Given the description of an element on the screen output the (x, y) to click on. 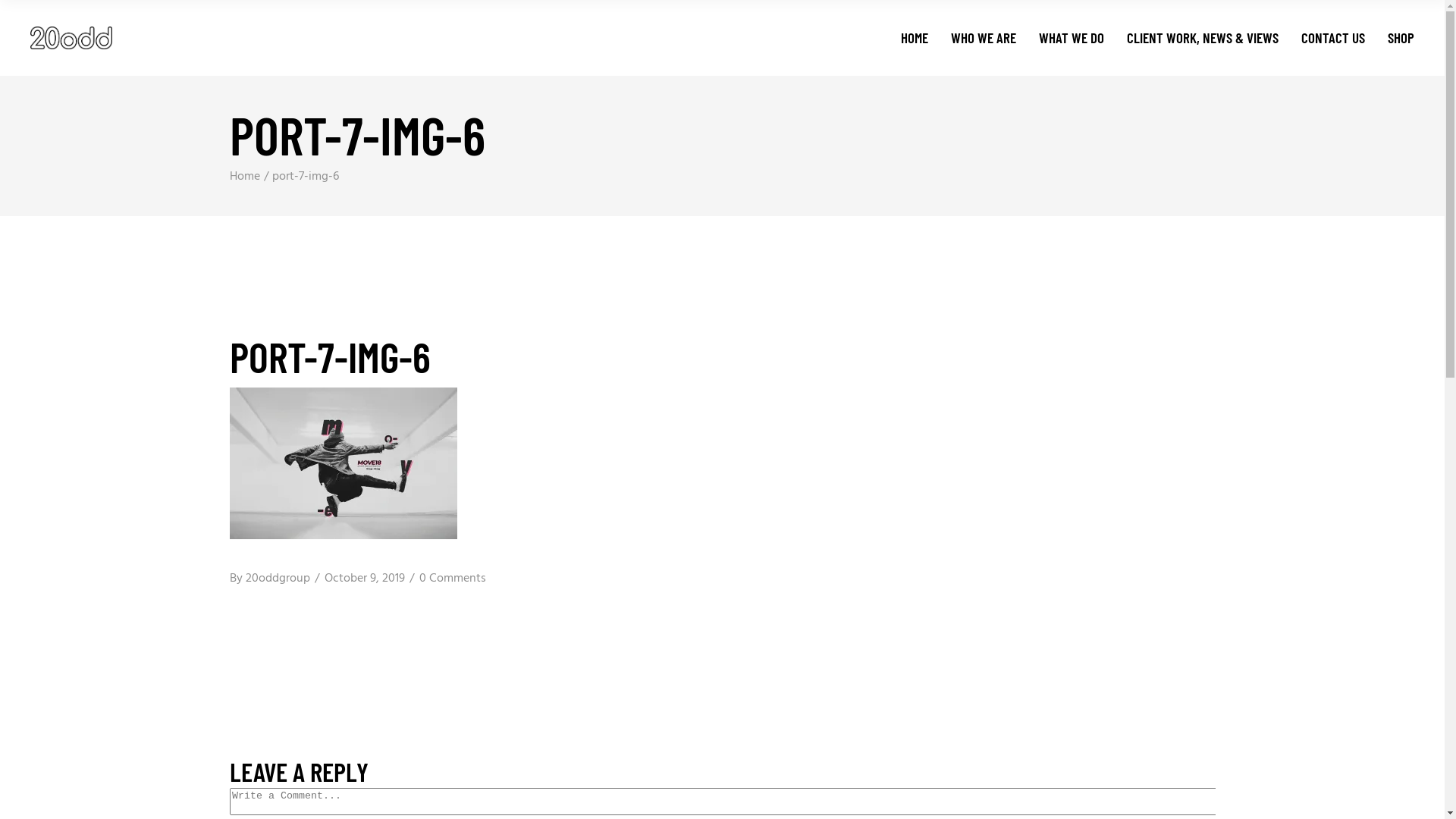
HOME Element type: text (914, 37)
WHO WE ARE Element type: text (983, 37)
0 Comments Element type: text (451, 578)
20oddgroup Element type: text (277, 578)
CONTACT US Element type: text (1333, 37)
WHAT WE DO Element type: text (1071, 37)
SHOP Element type: text (1400, 37)
October 9, 2019 Element type: text (364, 578)
CLIENT WORK, NEWS & VIEWS Element type: text (1202, 37)
Home Element type: text (244, 176)
